Given the description of an element on the screen output the (x, y) to click on. 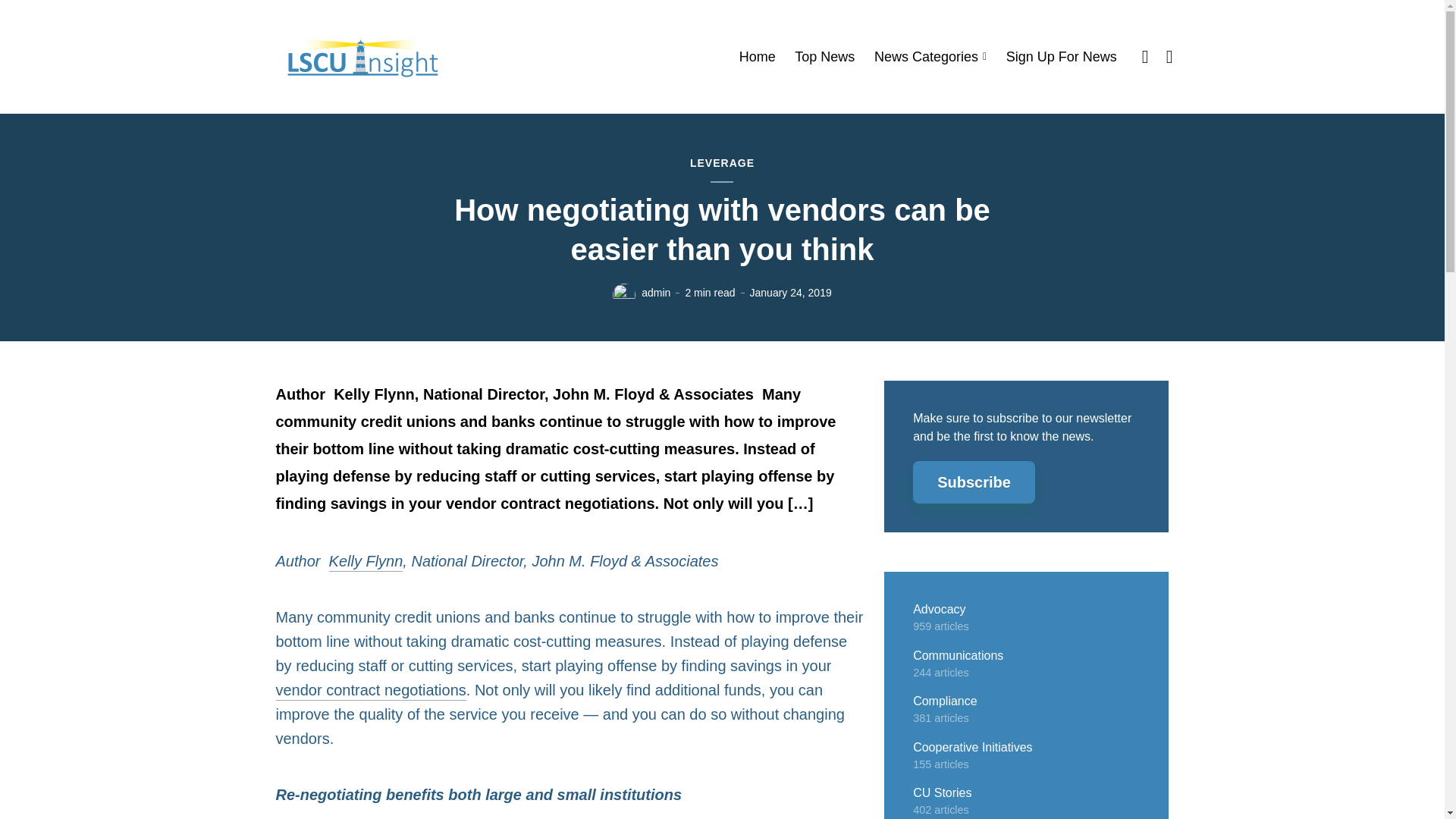
Home (757, 56)
News Categories (931, 56)
Sign Up For News (1061, 56)
admin (655, 292)
LEVERAGE (722, 163)
Top News (824, 56)
